Given the description of an element on the screen output the (x, y) to click on. 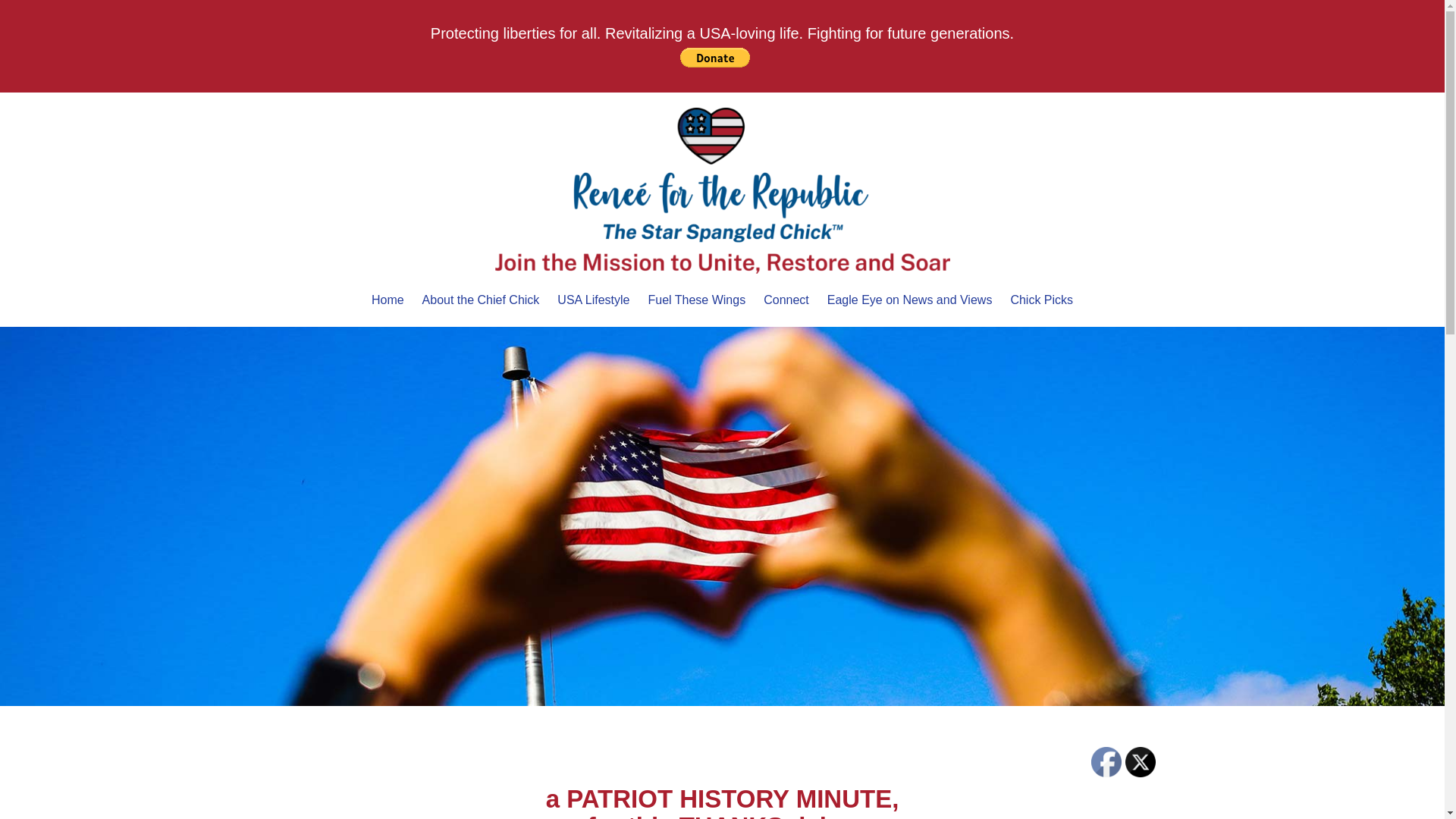
USA Lifestyle (593, 300)
About the Chief Chick (480, 300)
Chick Picks (1041, 300)
Facebook (1105, 761)
USA Lifestyle (593, 300)
Eagle Eye on News and Views (909, 300)
Chick Picks (1041, 300)
About the Chief Chick (480, 300)
Home (387, 300)
Twitter (1140, 761)
